Given the description of an element on the screen output the (x, y) to click on. 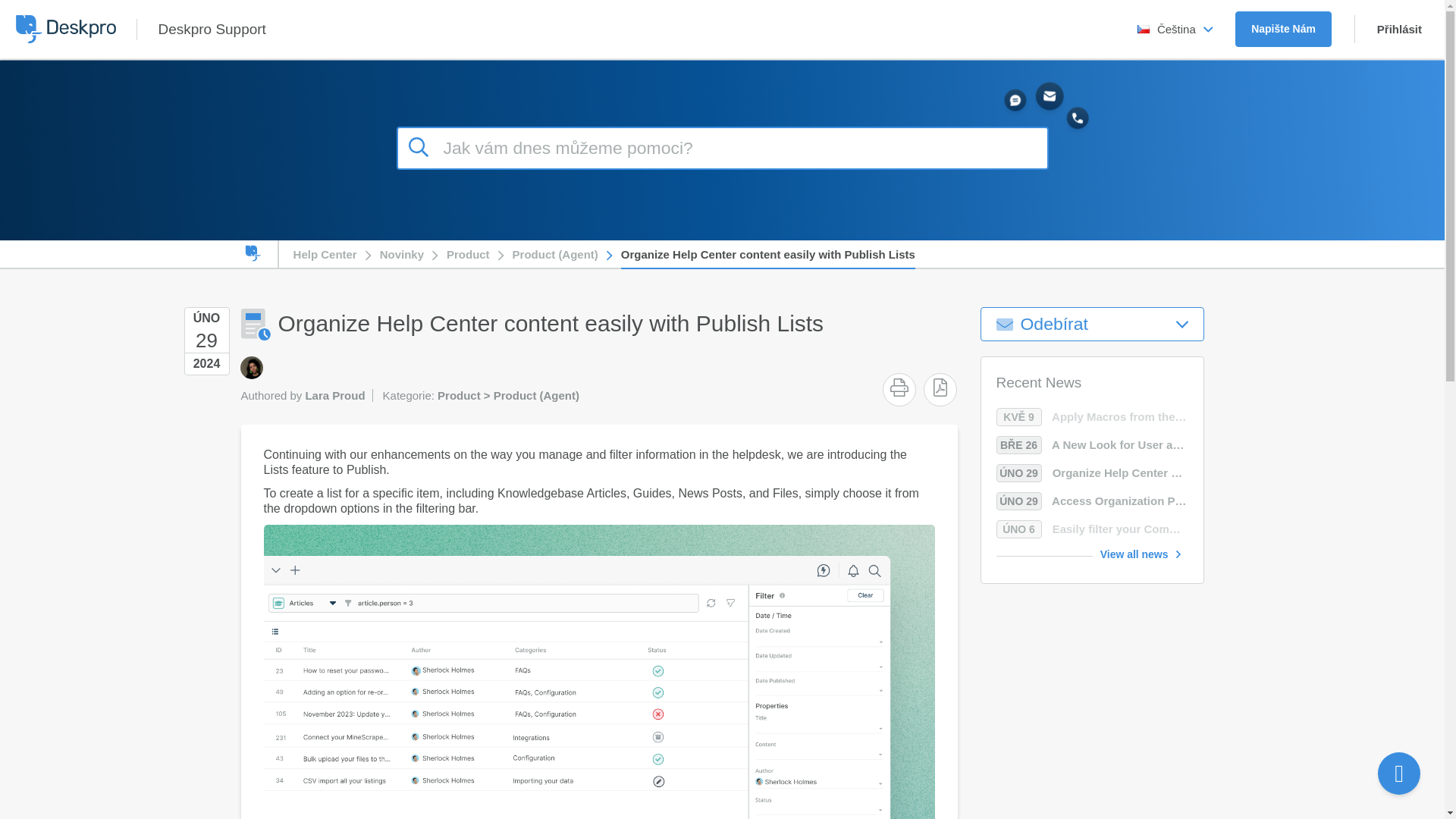
Lara Proud (250, 367)
Deskpro Support (210, 29)
Pdf (940, 387)
Tisk (898, 387)
Pdf (940, 387)
Tisk (898, 387)
